Given the description of an element on the screen output the (x, y) to click on. 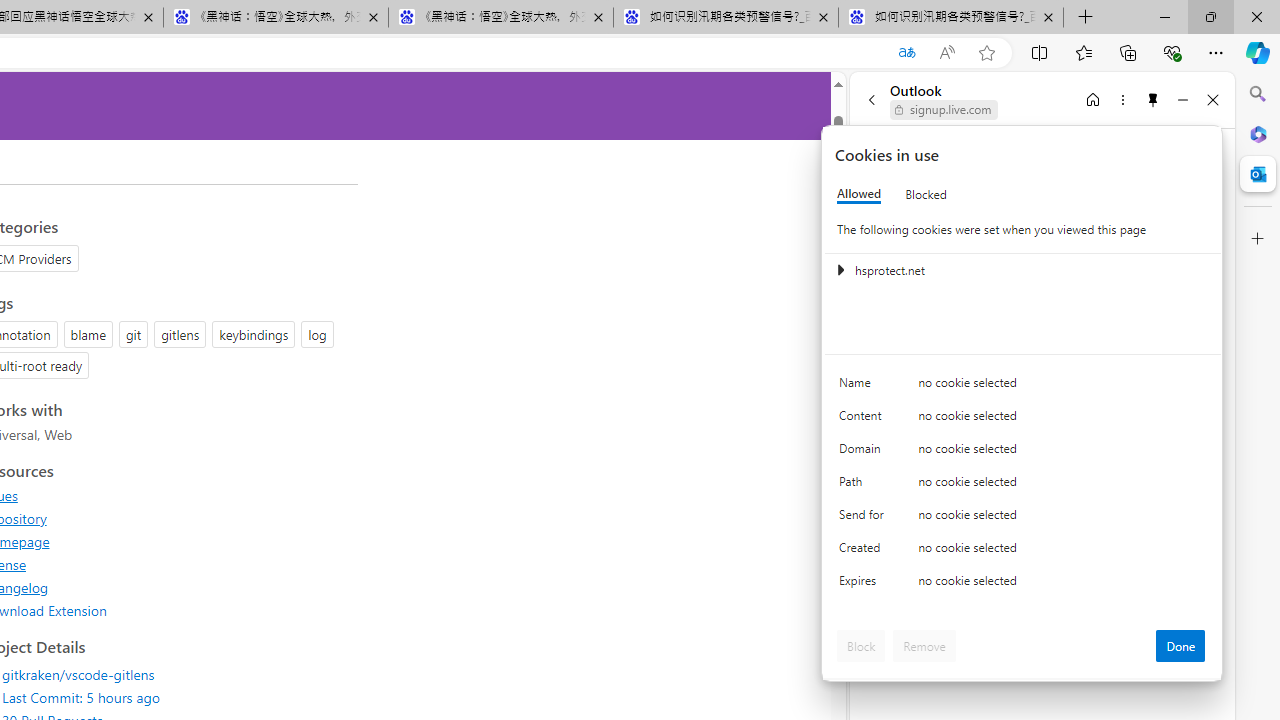
Done (1179, 645)
Name (864, 387)
Block (861, 645)
Expires (864, 585)
no cookie selected (1062, 585)
Domain (864, 452)
Class: c0153 c0157 c0154 (1023, 386)
Blocked (925, 193)
Content (864, 420)
Send for (864, 518)
Created (864, 552)
Path (864, 485)
Remove (924, 645)
Allowed (859, 193)
Class: c0153 c0157 (1023, 584)
